Given the description of an element on the screen output the (x, y) to click on. 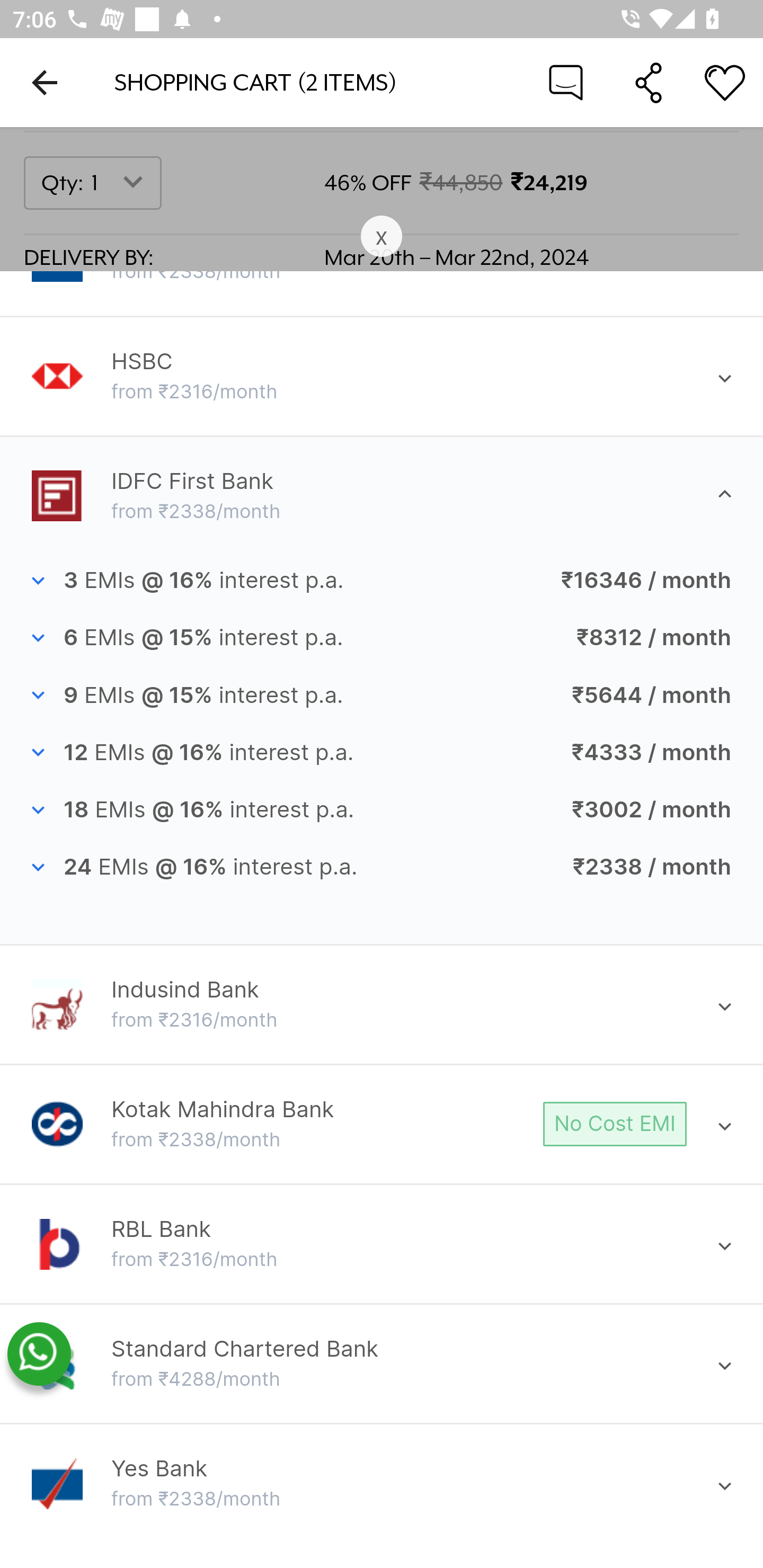
Navigate up (44, 82)
Chat (565, 81)
Share Cart (648, 81)
Wishlist (724, 81)
x (381, 237)
HSBC HSBC from ₹2316/month (381, 376)
IDFC First Bank IDFC First Bank from ₹2338/month (381, 495)
3 EMIs @ 16% interest p.a. ₹16346 / month (381, 580)
6 EMIs @ 15% interest p.a. ₹8312 / month (381, 638)
9 EMIs @ 15% interest p.a. ₹5644 / month (381, 695)
12 EMIs @ 16% interest p.a. ₹4333 / month (381, 753)
18 EMIs @ 16% interest p.a. ₹3002 / month (381, 811)
24 EMIs @ 16% interest p.a. ₹2338 / month (381, 867)
Indusind Bank Indusind Bank from ₹2316/month (381, 1004)
RBL Bank RBL Bank from ₹2316/month (381, 1244)
whatsapp (38, 1354)
Yes Bank Yes Bank from ₹2338/month (381, 1484)
